Given the description of an element on the screen output the (x, y) to click on. 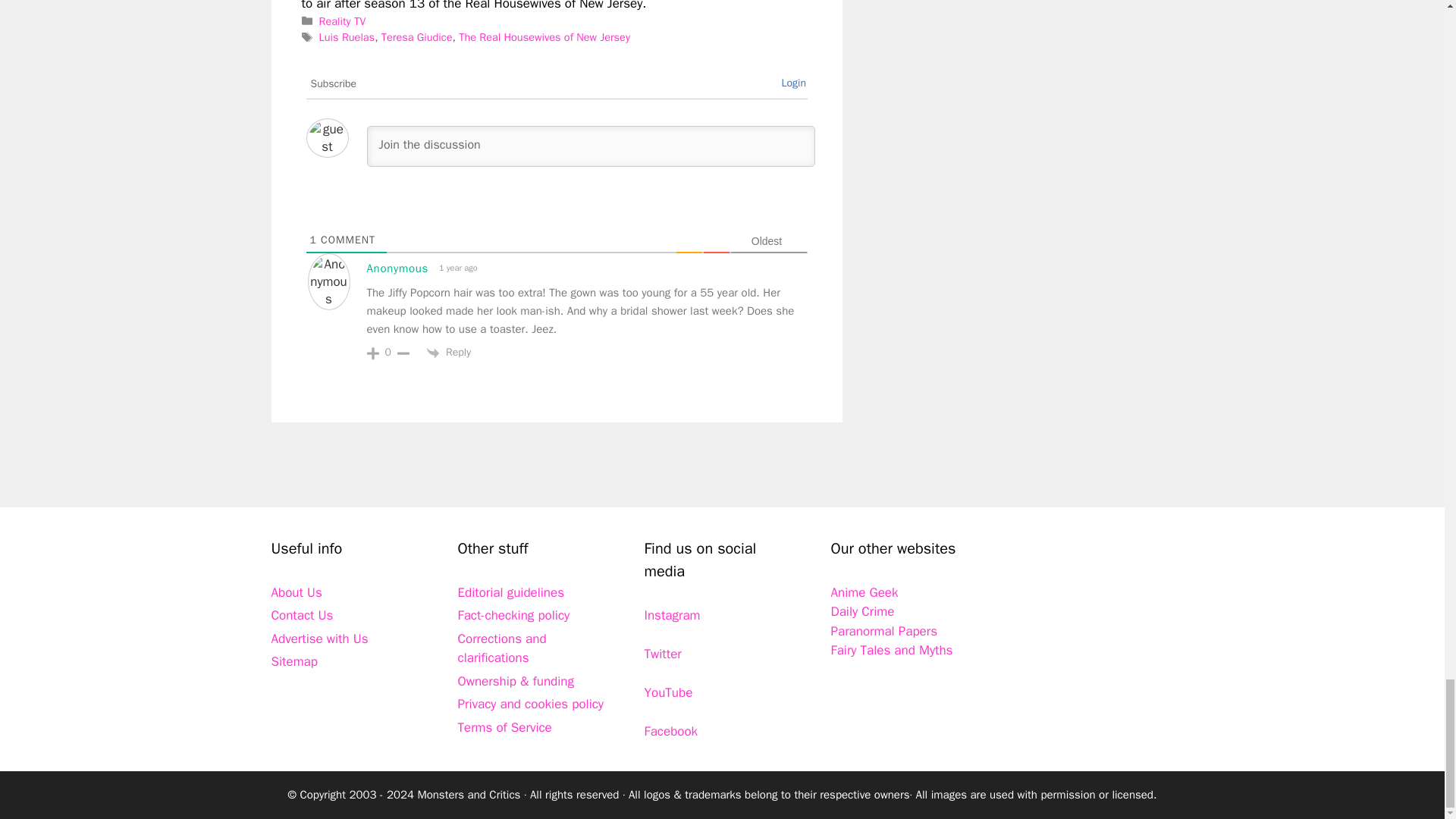
Reality TV (342, 20)
Teresa Giudice (416, 37)
The Real Housewives of New Jersey (544, 37)
0 (387, 352)
Luis Ruelas (346, 37)
Login (793, 82)
7th August 2022 11:38 am EDT (456, 268)
